Given the description of an element on the screen output the (x, y) to click on. 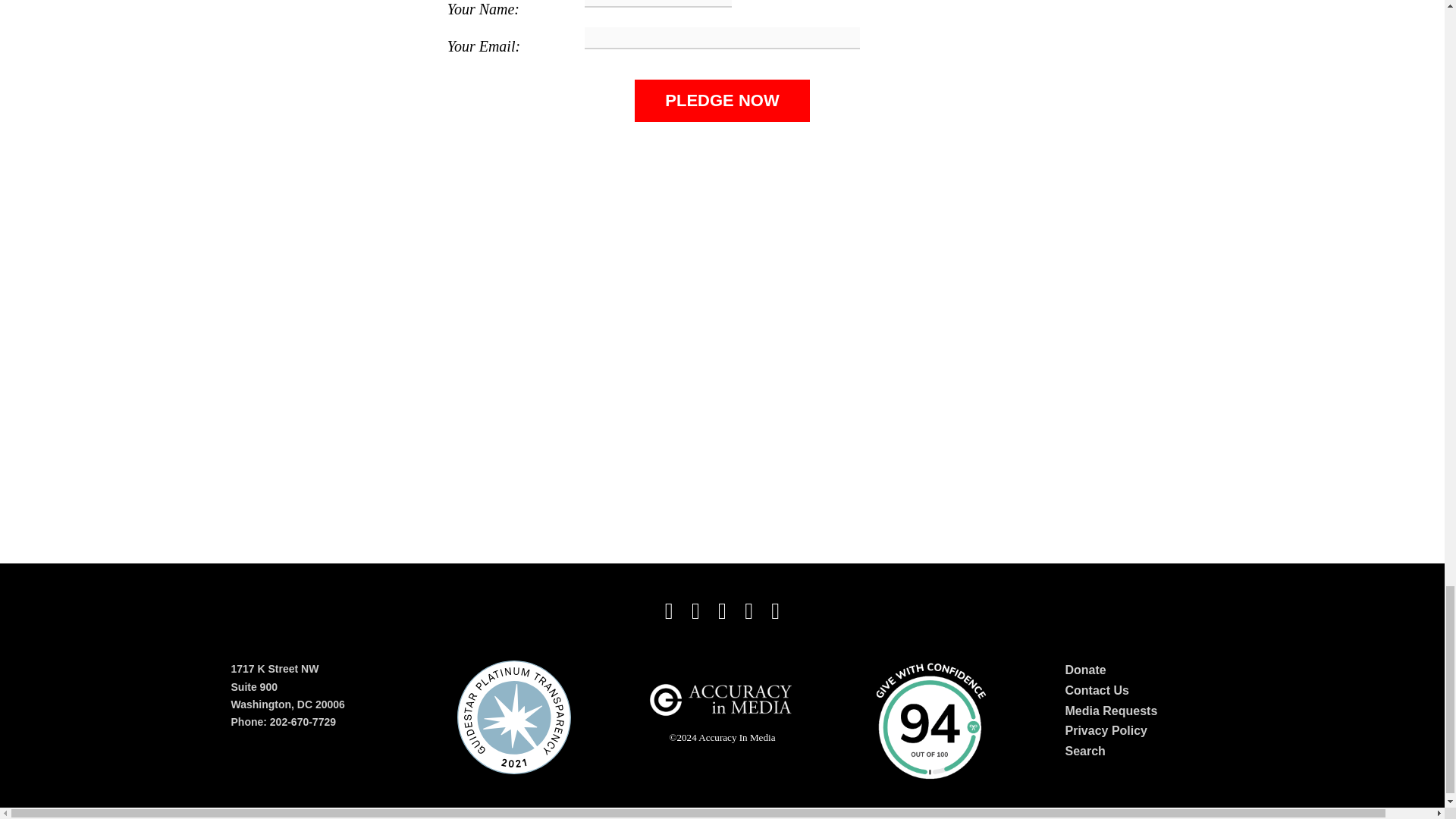
Contact Us (1096, 689)
PLEDGE NOW (721, 100)
Donate (1084, 669)
PLEDGE NOW (721, 100)
Privacy Policy (1105, 730)
Media Requests (1110, 710)
Search (1084, 750)
